Given the description of an element on the screen output the (x, y) to click on. 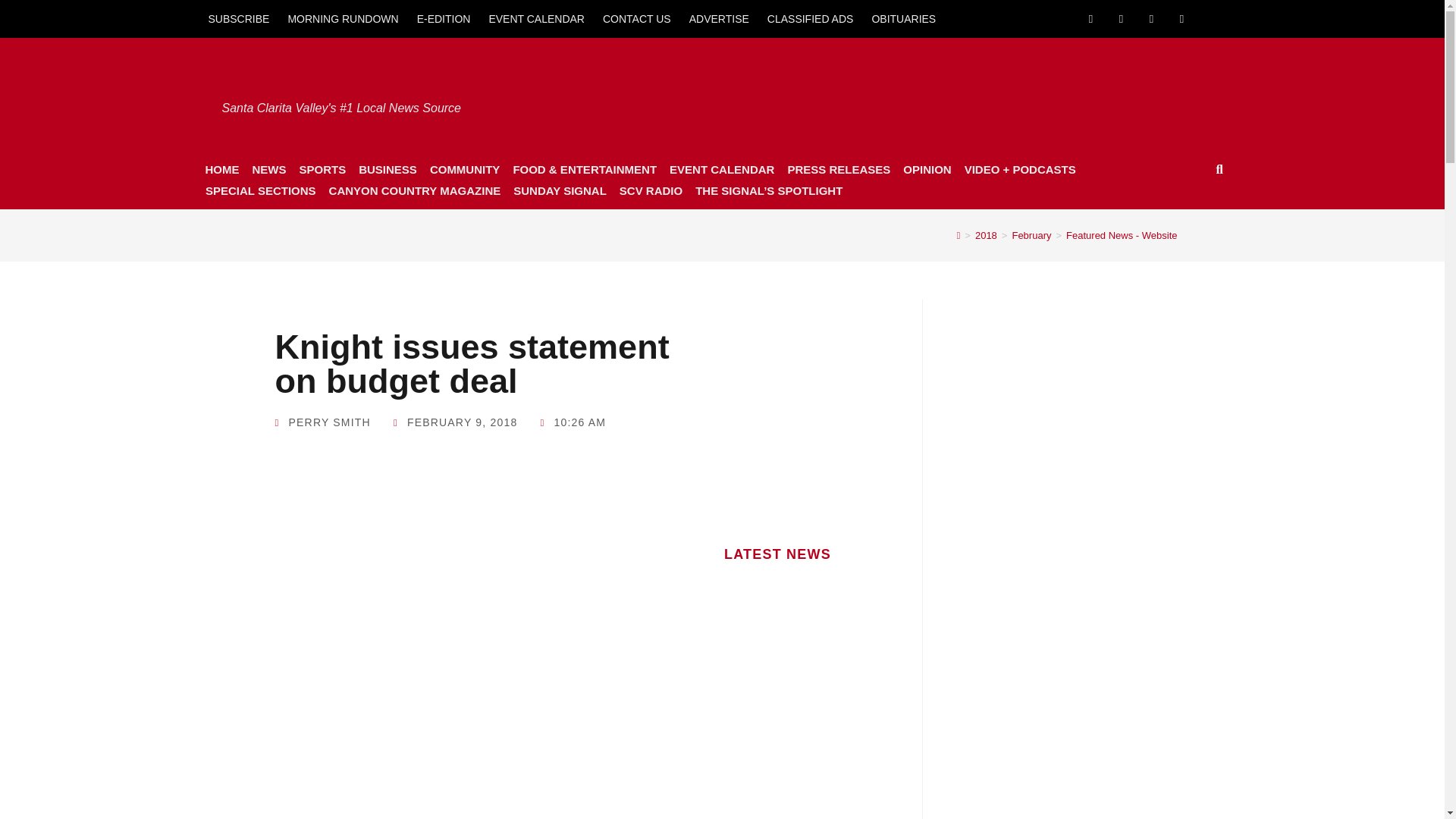
MORNING RUNDOWN (342, 18)
OBITUARIES (902, 18)
NEWS (269, 169)
E-EDITION (443, 18)
CONTACT US (636, 18)
ADVERTISE (718, 18)
SPORTS (322, 169)
HOME (221, 169)
SUBSCRIBE (238, 18)
EVENT CALENDAR (536, 18)
CLASSIFIED ADS (810, 18)
